Given the description of an element on the screen output the (x, y) to click on. 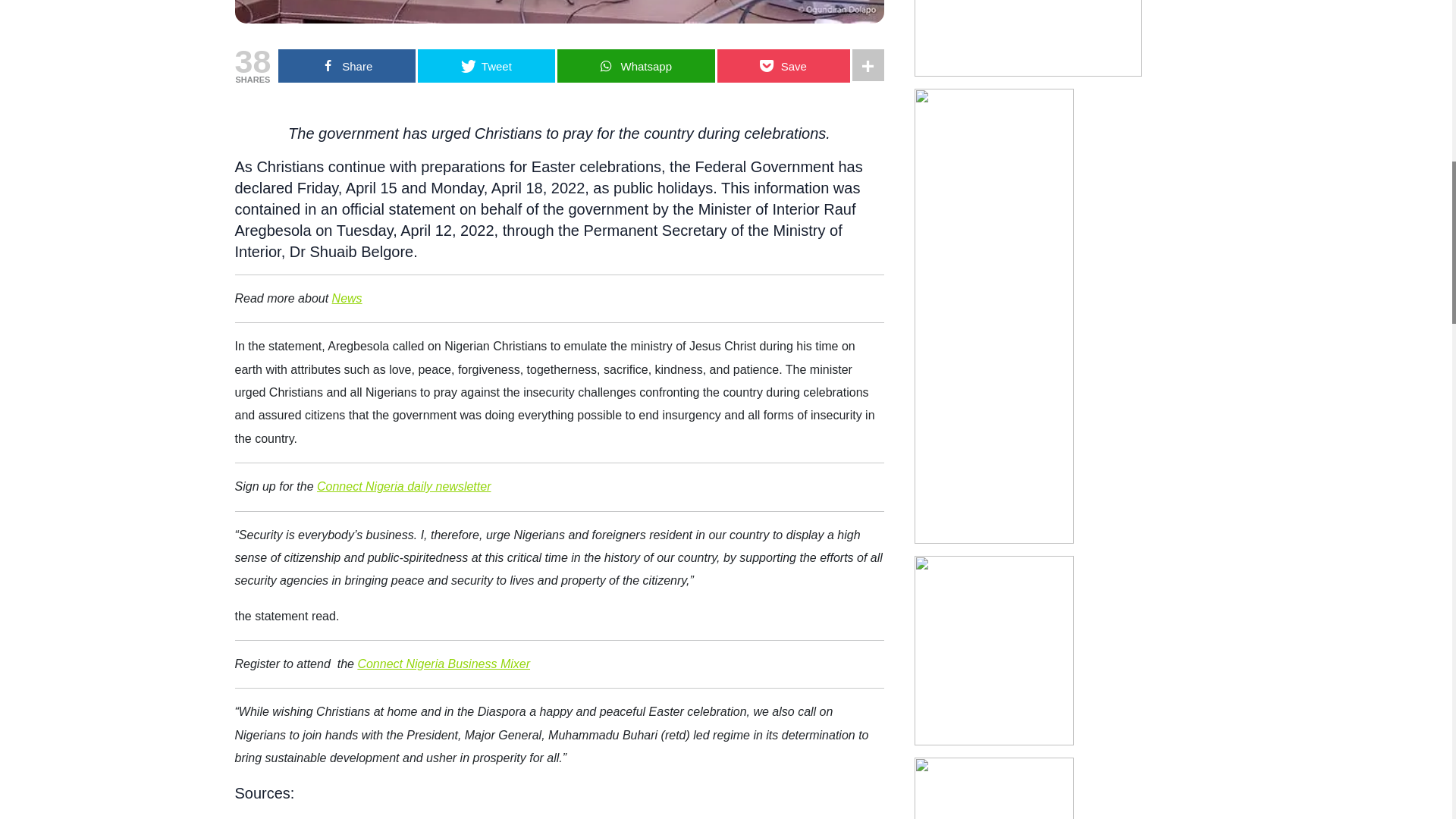
Save (783, 65)
Tweet (485, 65)
Whatsapp (635, 65)
Share (346, 65)
Connect Nigeria daily newsletter (403, 486)
Connect Nigeria Business Mixer (442, 663)
News (346, 297)
